Given the description of an element on the screen output the (x, y) to click on. 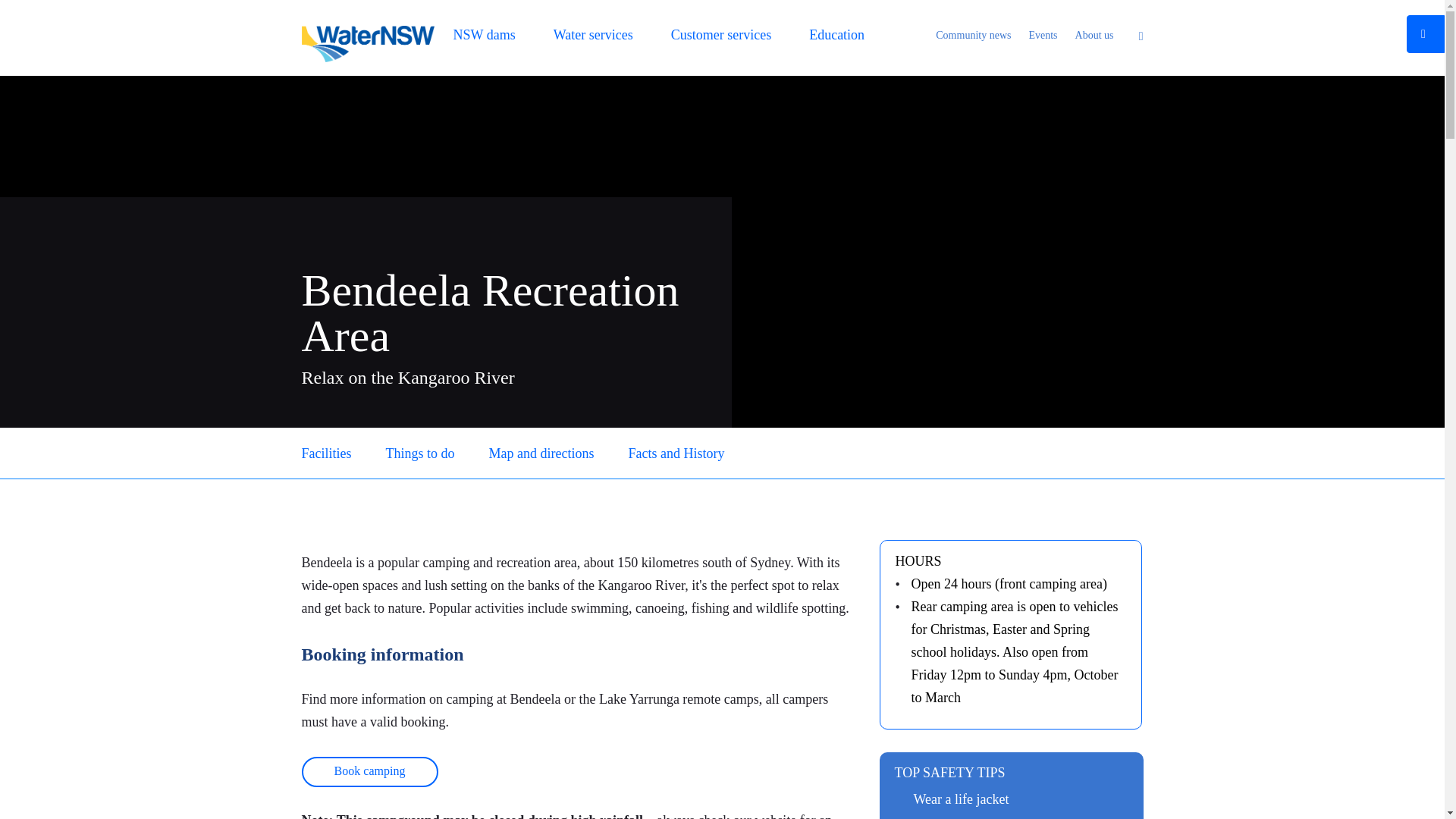
Search (1136, 36)
Water services (593, 38)
NSW dams (483, 38)
